Given the description of an element on the screen output the (x, y) to click on. 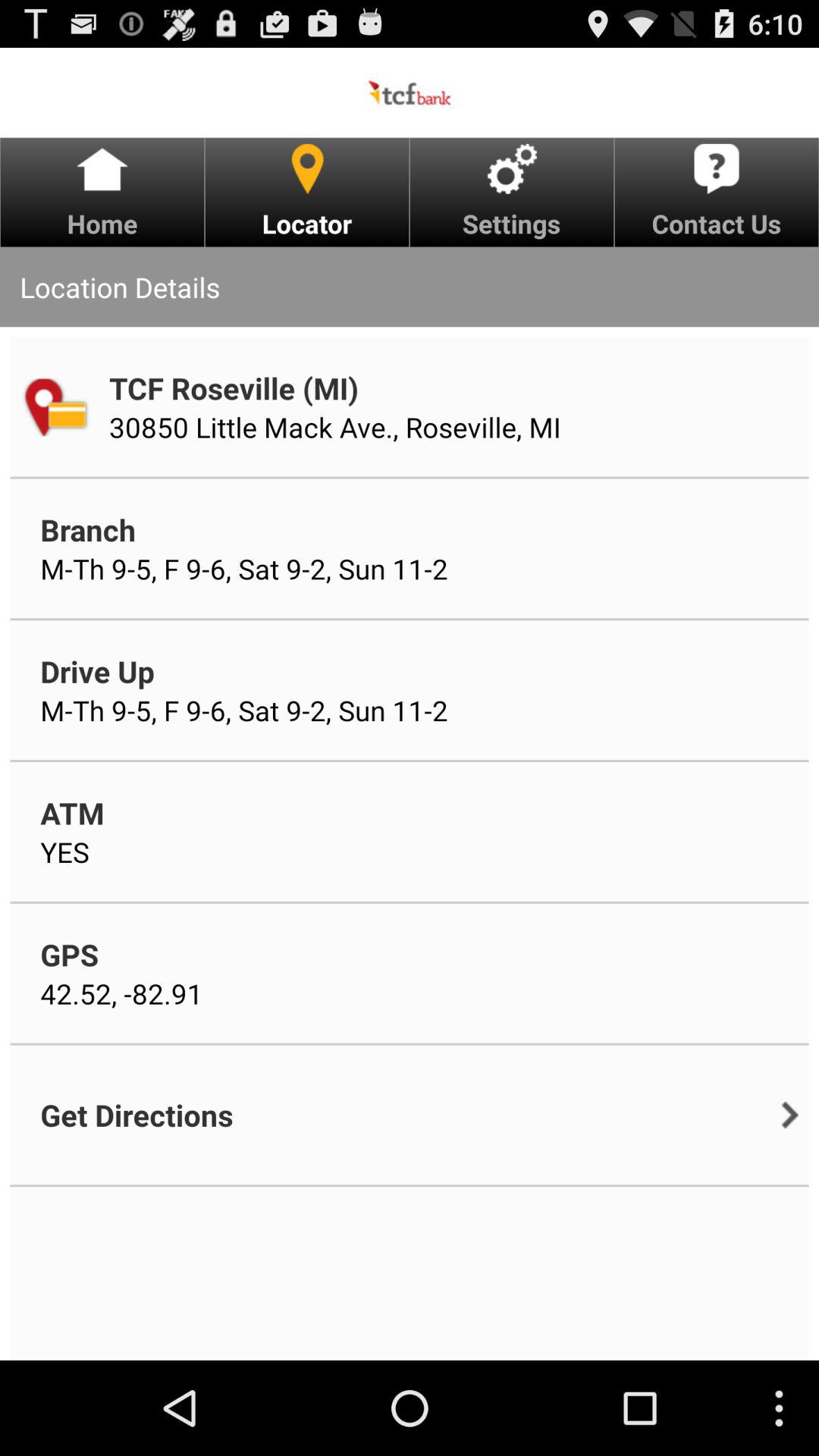
scroll to the yes icon (64, 851)
